Given the description of an element on the screen output the (x, y) to click on. 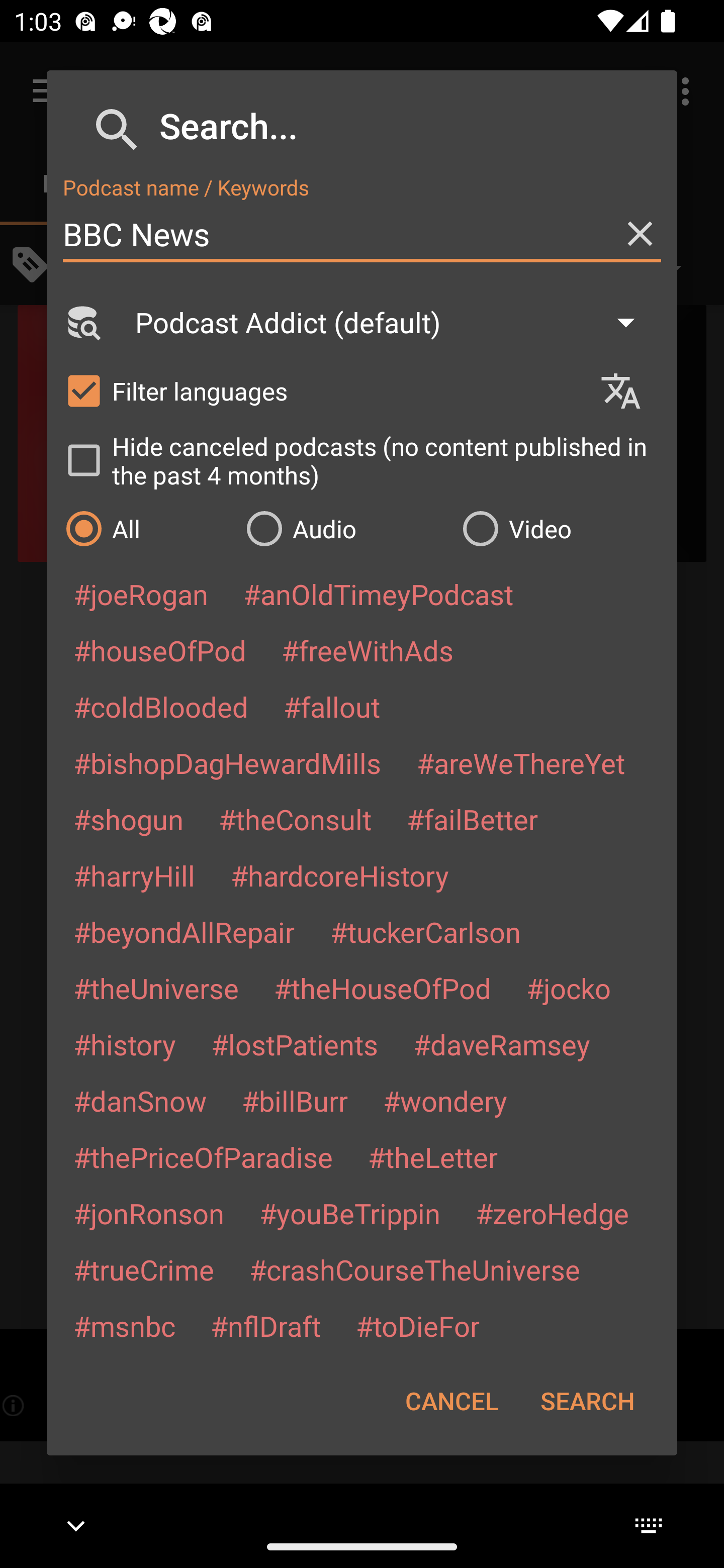
BBC News (361, 234)
Search Engine (82, 322)
Podcast Addict (default) (394, 322)
Languages selection (629, 390)
Filter languages (322, 390)
All (145, 528)
Audio (344, 528)
Video (560, 528)
#joeRogan (140, 594)
#anOldTimeyPodcast (378, 594)
#houseOfPod (159, 650)
#freeWithAds (367, 650)
#coldBlooded (160, 705)
#fallout (331, 705)
#bishopDagHewardMills (227, 762)
#areWeThereYet (521, 762)
#shogun (128, 818)
#theConsult (294, 818)
#failBetter (471, 818)
#harryHill (134, 875)
#hardcoreHistory (339, 875)
#beyondAllRepair (184, 931)
#tuckerCarlson (425, 931)
#theUniverse (155, 987)
#theHouseOfPod (381, 987)
#jocko (568, 987)
#history (124, 1044)
#lostPatients (294, 1044)
#daveRamsey (501, 1044)
#danSnow (139, 1100)
#billBurr (294, 1100)
#wondery (444, 1100)
#thePriceOfParadise (203, 1157)
#theLetter (432, 1157)
#jonRonson (148, 1213)
#youBeTrippin (349, 1213)
#zeroHedge (552, 1213)
#trueCrime (143, 1268)
#crashCourseTheUniverse (414, 1268)
#msnbc (124, 1325)
#nflDraft (265, 1325)
#toDieFor (417, 1325)
CANCEL (451, 1400)
SEARCH (587, 1400)
